Given the description of an element on the screen output the (x, y) to click on. 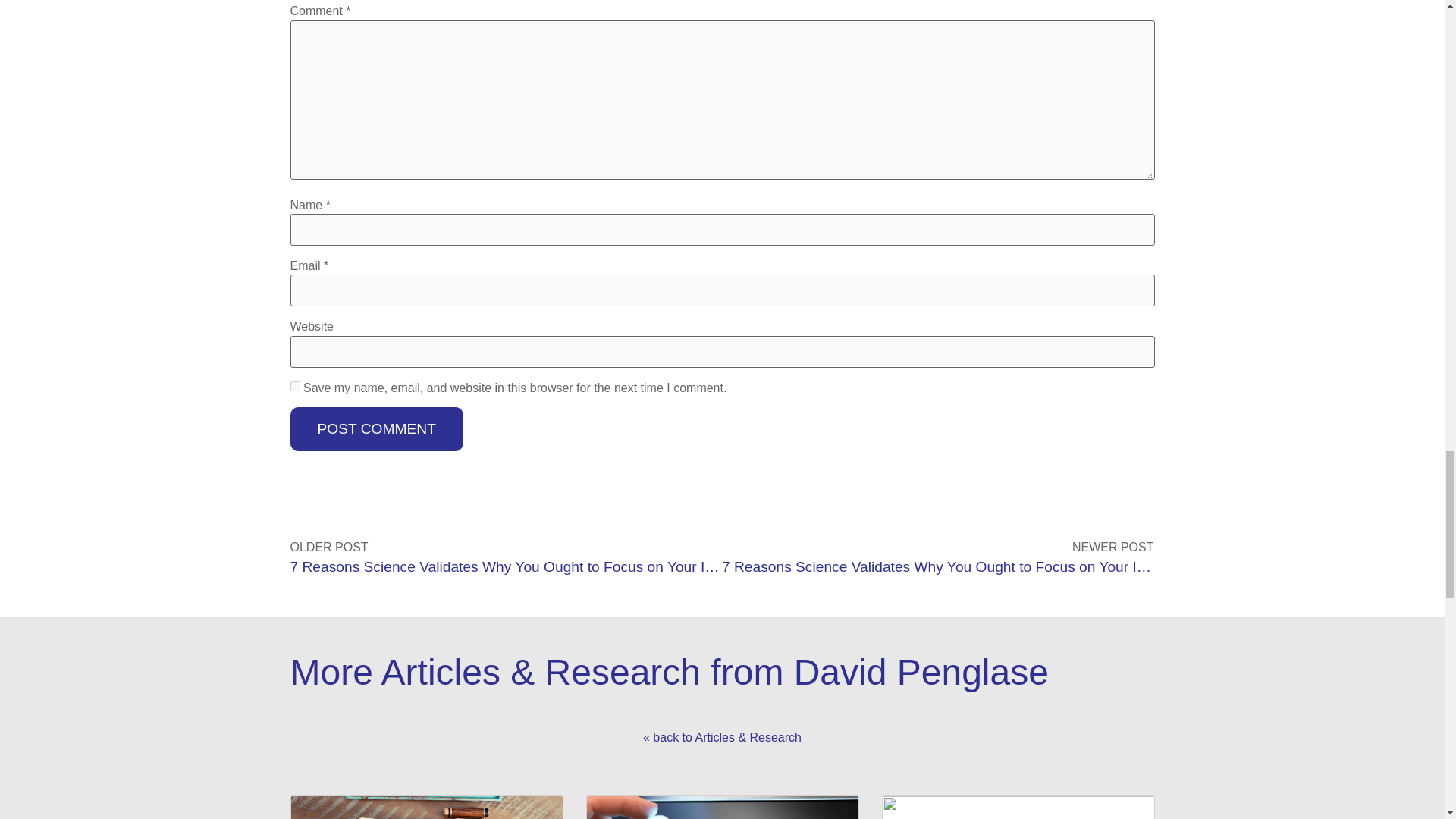
Post Comment (376, 429)
yes (294, 386)
Post Comment (376, 429)
